Given the description of an element on the screen output the (x, y) to click on. 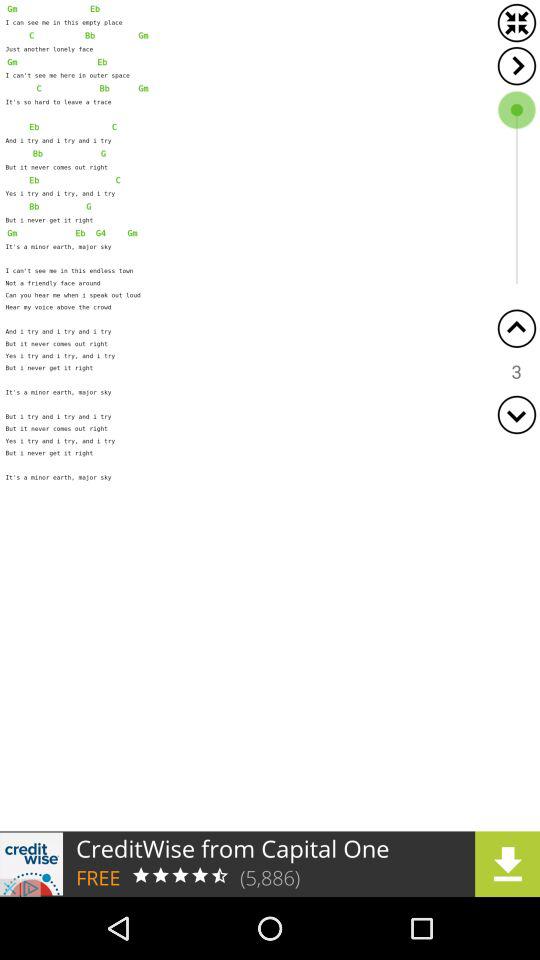
go to next (516, 65)
